Given the description of an element on the screen output the (x, y) to click on. 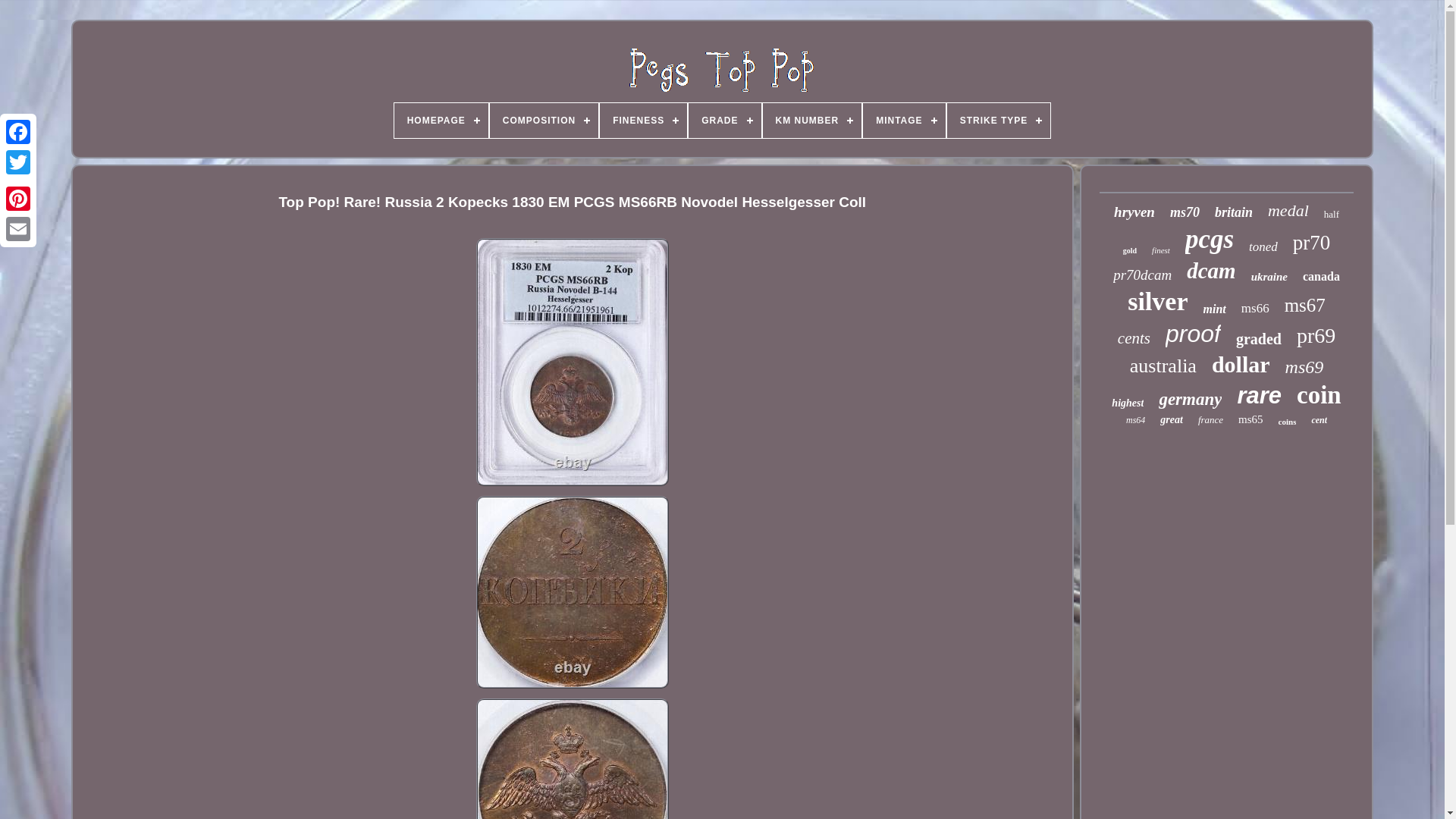
COMPOSITION (543, 120)
FINENESS (643, 120)
Facebook (17, 132)
HOMEPAGE (440, 120)
